Given the description of an element on the screen output the (x, y) to click on. 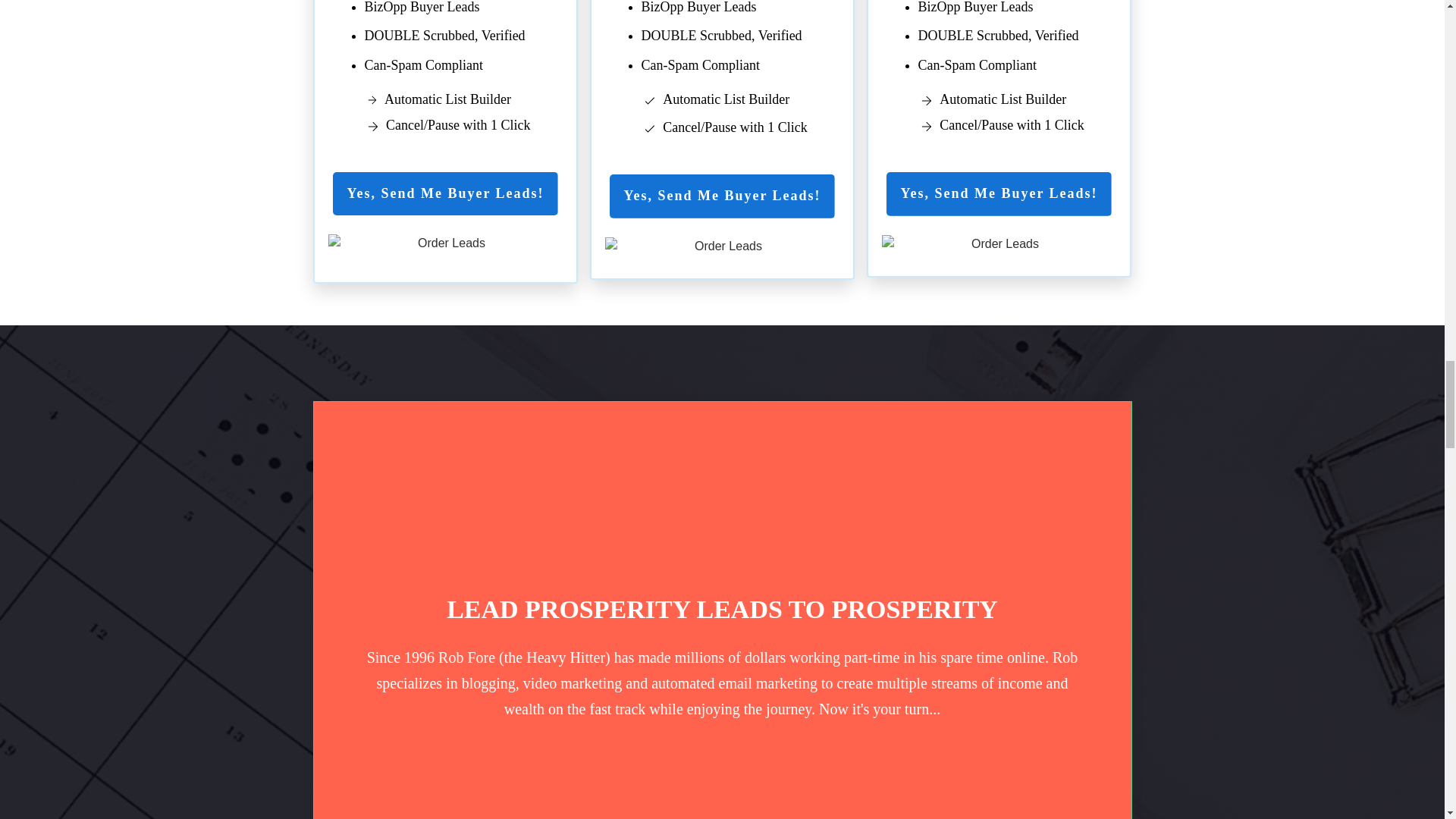
Order Leads (722, 250)
Order Leads (444, 247)
Yes, Send Me Buyer Leads! (722, 196)
Yes, Send Me Buyer Leads! (998, 193)
Yes, Send Me Buyer Leads! (445, 193)
Order Leads (998, 248)
